Given the description of an element on the screen output the (x, y) to click on. 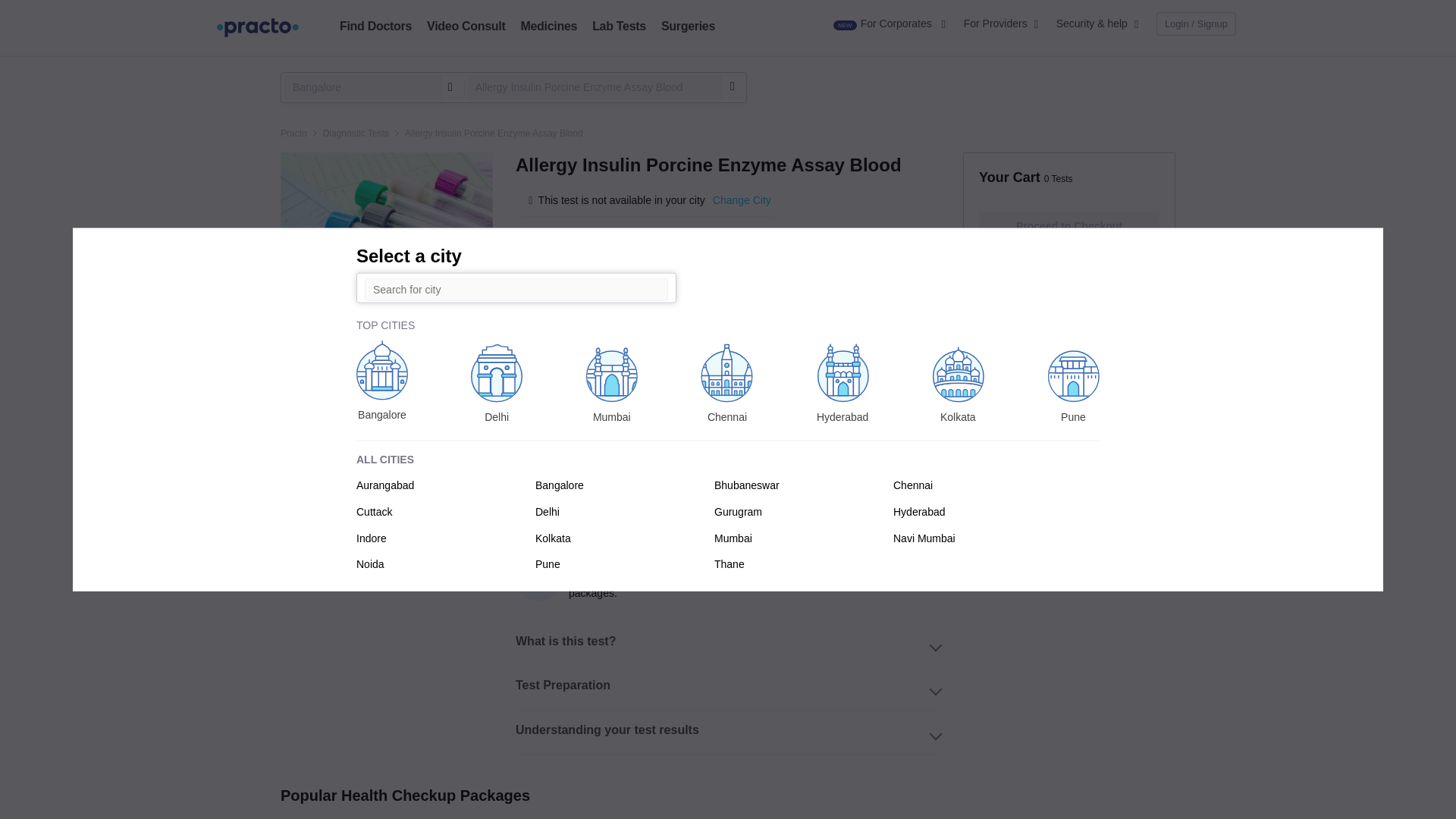
Lab Tests (619, 26)
Practo (294, 133)
Surgeries (687, 26)
tests (619, 26)
Find Doctors (375, 26)
medicines (547, 26)
Video Consult (465, 26)
Medicines (547, 26)
chat (465, 26)
Bangalore (362, 87)
Allergy Insulin Porcine Enzyme Assay Blood (594, 87)
surgery (687, 26)
Proceed to Checkout (1068, 226)
book (375, 26)
Allergy Insulin Porcine Enzyme Assay Blood (594, 87)
